Given the description of an element on the screen output the (x, y) to click on. 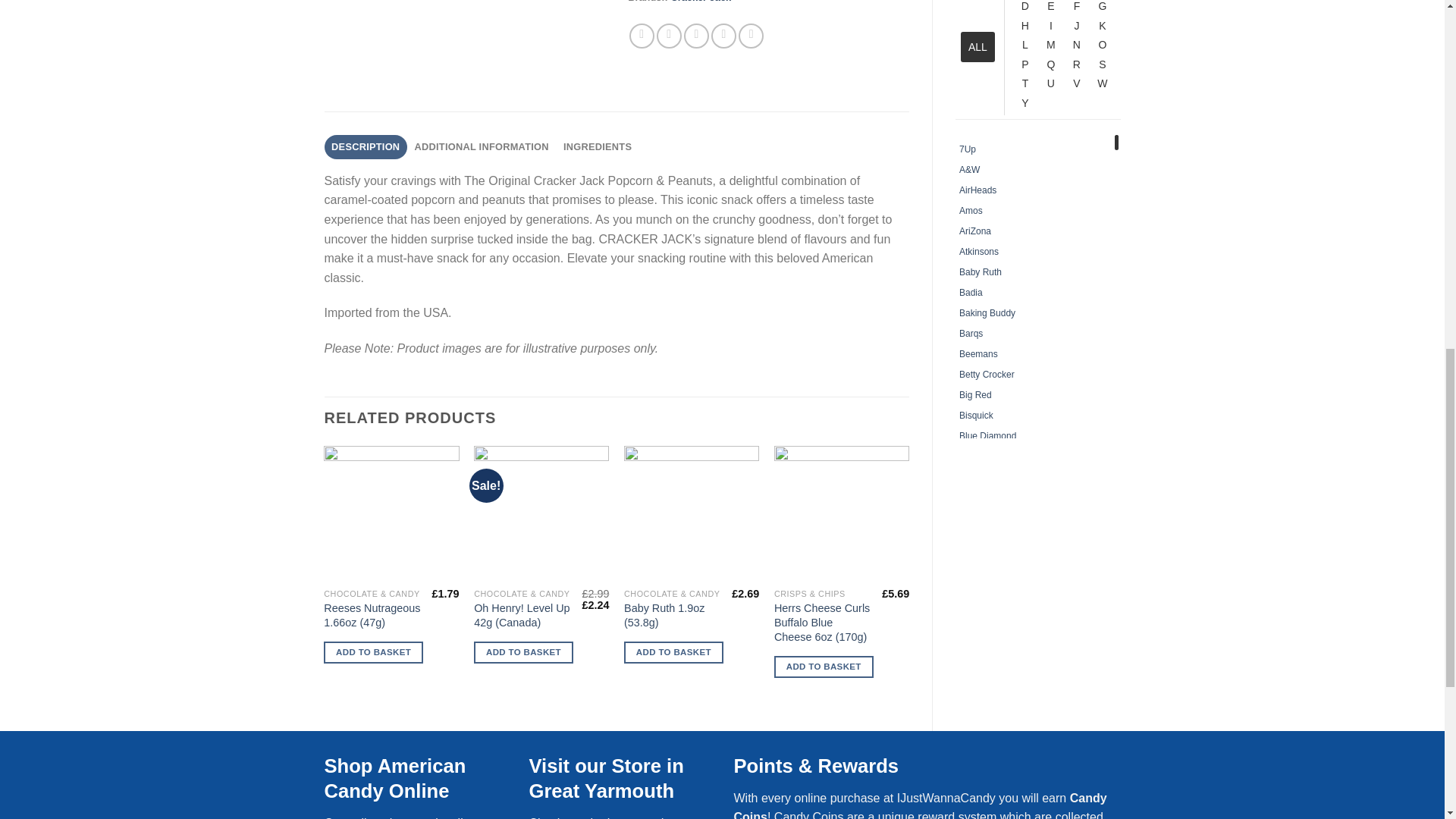
Share on Twitter (668, 35)
Email to a Friend (696, 35)
Pin on Pinterest (723, 35)
Share on LinkedIn (750, 35)
Share on Facebook (640, 35)
